Given the description of an element on the screen output the (x, y) to click on. 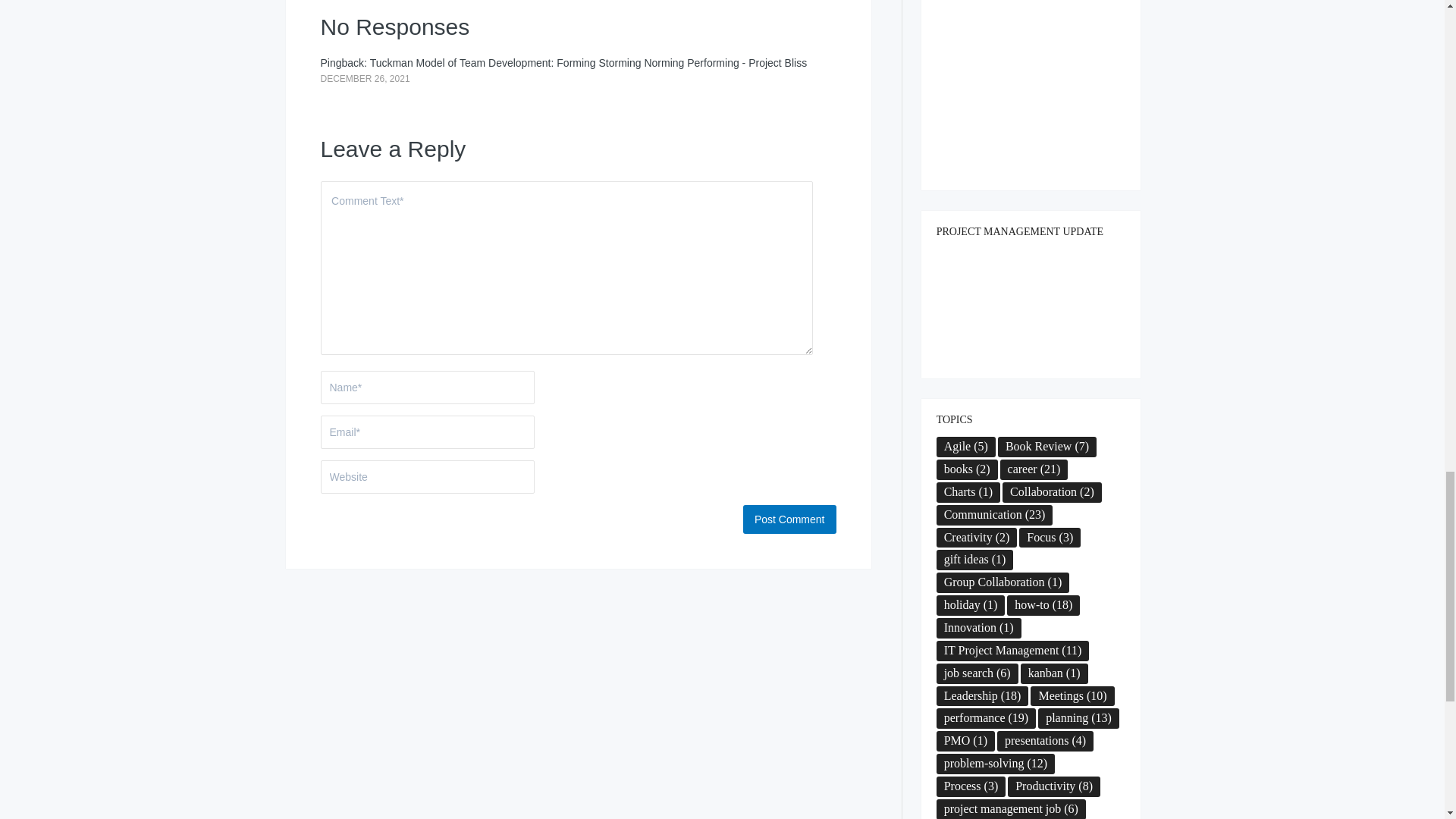
Post Comment (788, 519)
Project Management Update (1030, 306)
Post Comment (788, 519)
